Given the description of an element on the screen output the (x, y) to click on. 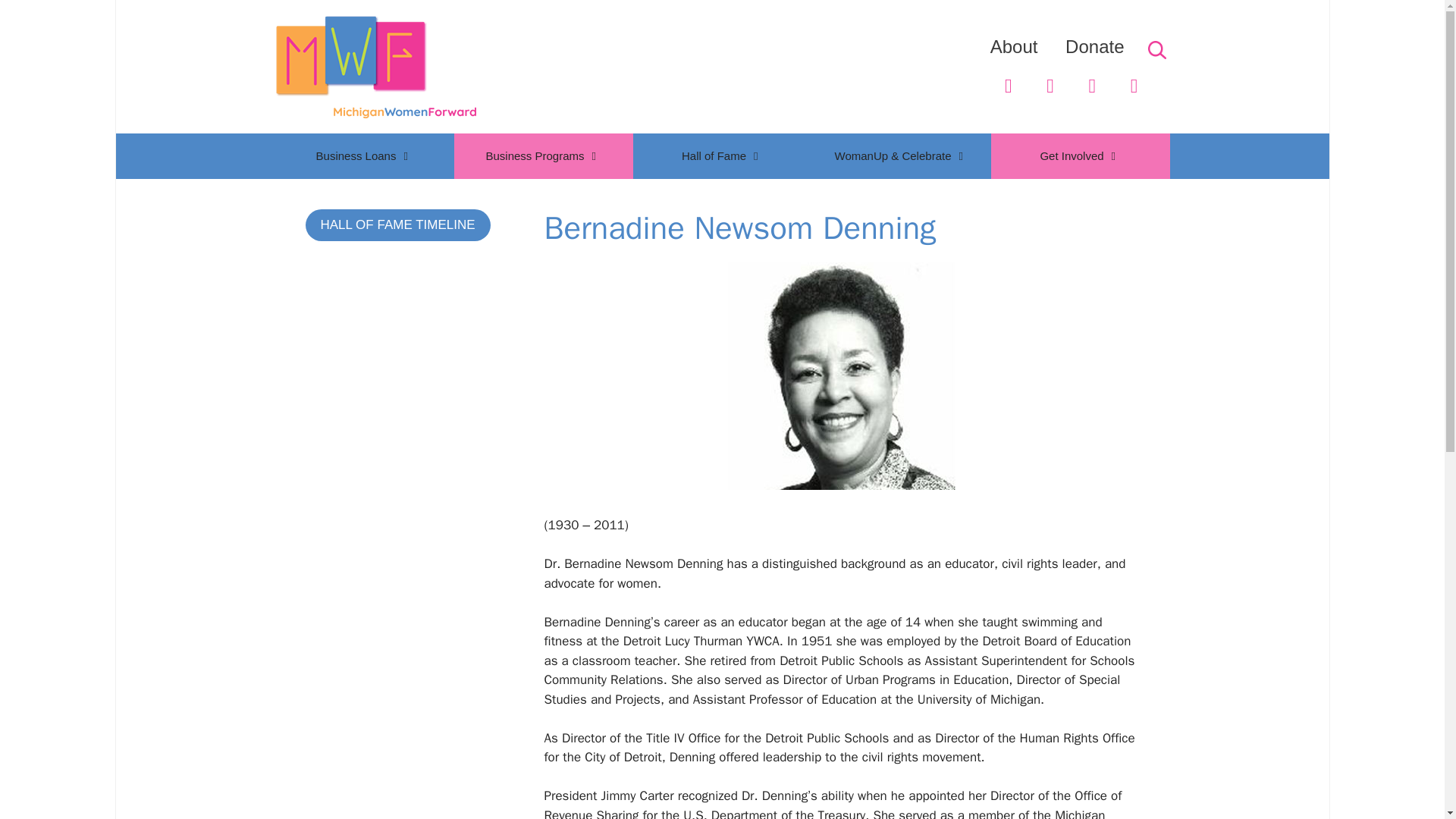
Instagram (1133, 85)
Michigan Women Forward (375, 65)
Michigan Women Forward (375, 66)
About (1014, 46)
HALL OF FAME TIMELINE (396, 224)
LinkedIn (1091, 85)
Business Loans (363, 156)
Hall of Fame (720, 156)
Donate (1094, 46)
Search (42, 16)
